Given the description of an element on the screen output the (x, y) to click on. 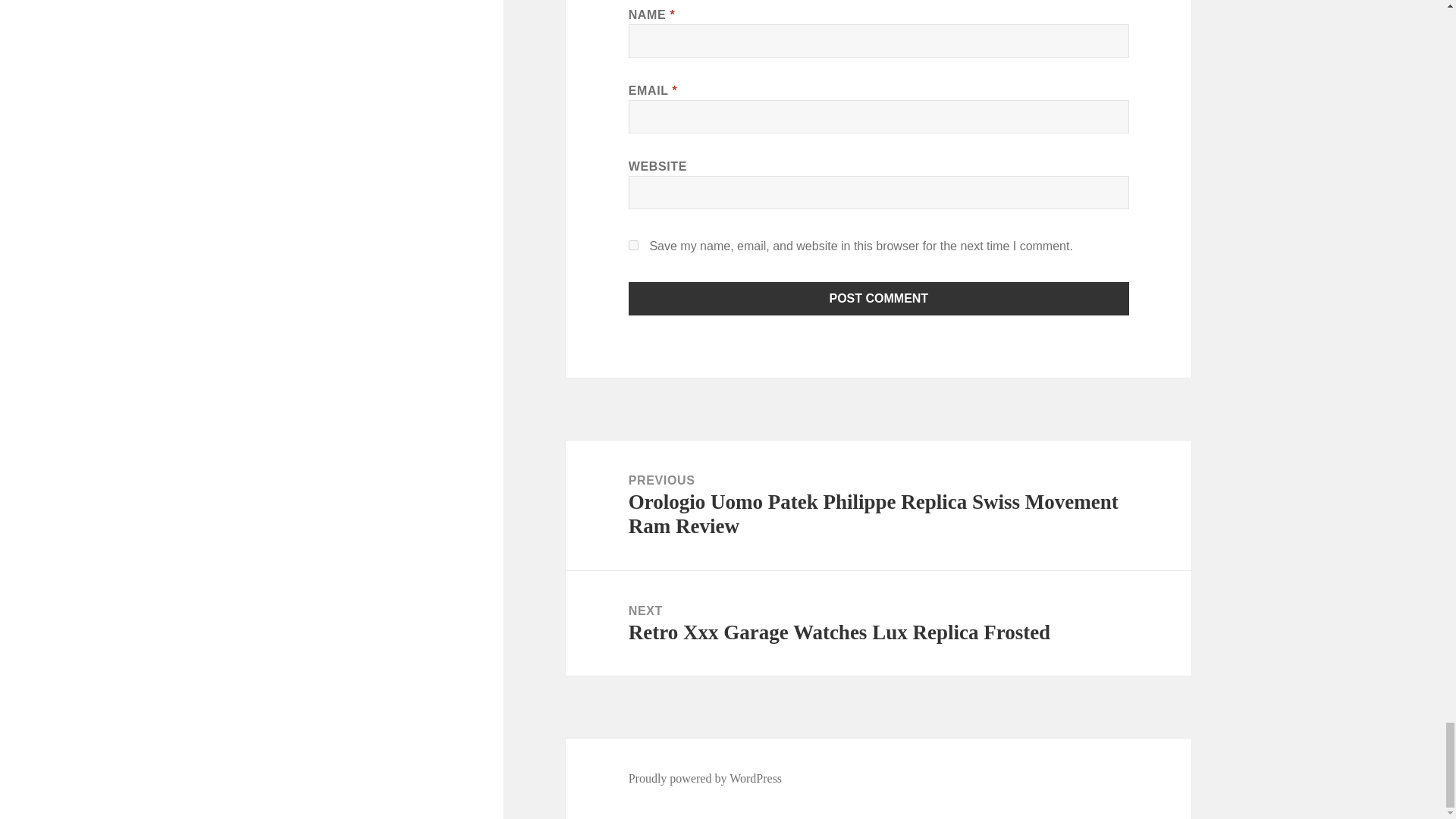
Proudly powered by WordPress (878, 623)
Post Comment (704, 778)
yes (878, 298)
Post Comment (633, 245)
